Given the description of an element on the screen output the (x, y) to click on. 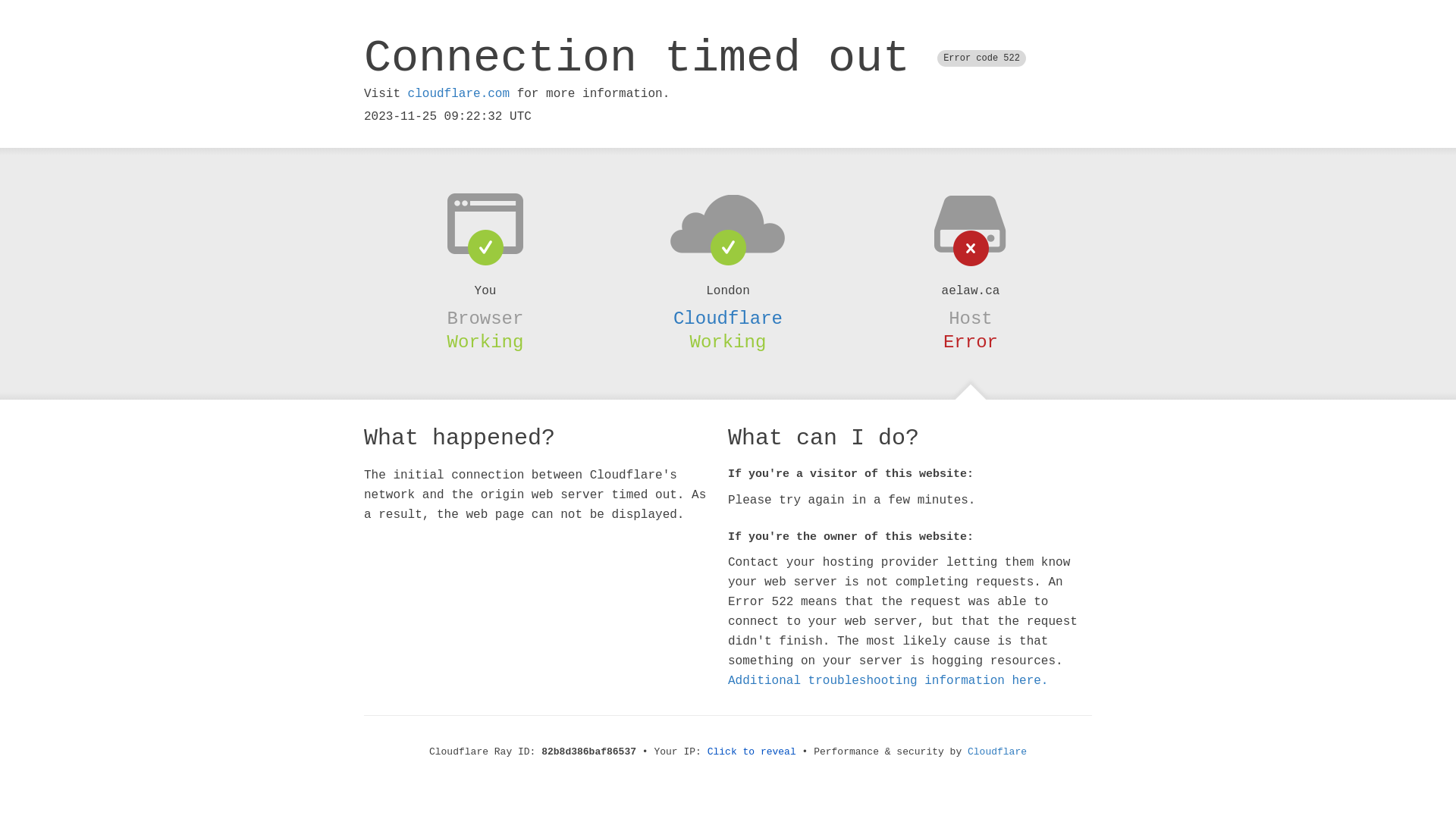
Click to reveal Element type: text (751, 751)
Cloudflare Element type: text (727, 318)
cloudflare.com Element type: text (458, 93)
Cloudflare Element type: text (996, 751)
Additional troubleshooting information here. Element type: text (888, 680)
